Given the description of an element on the screen output the (x, y) to click on. 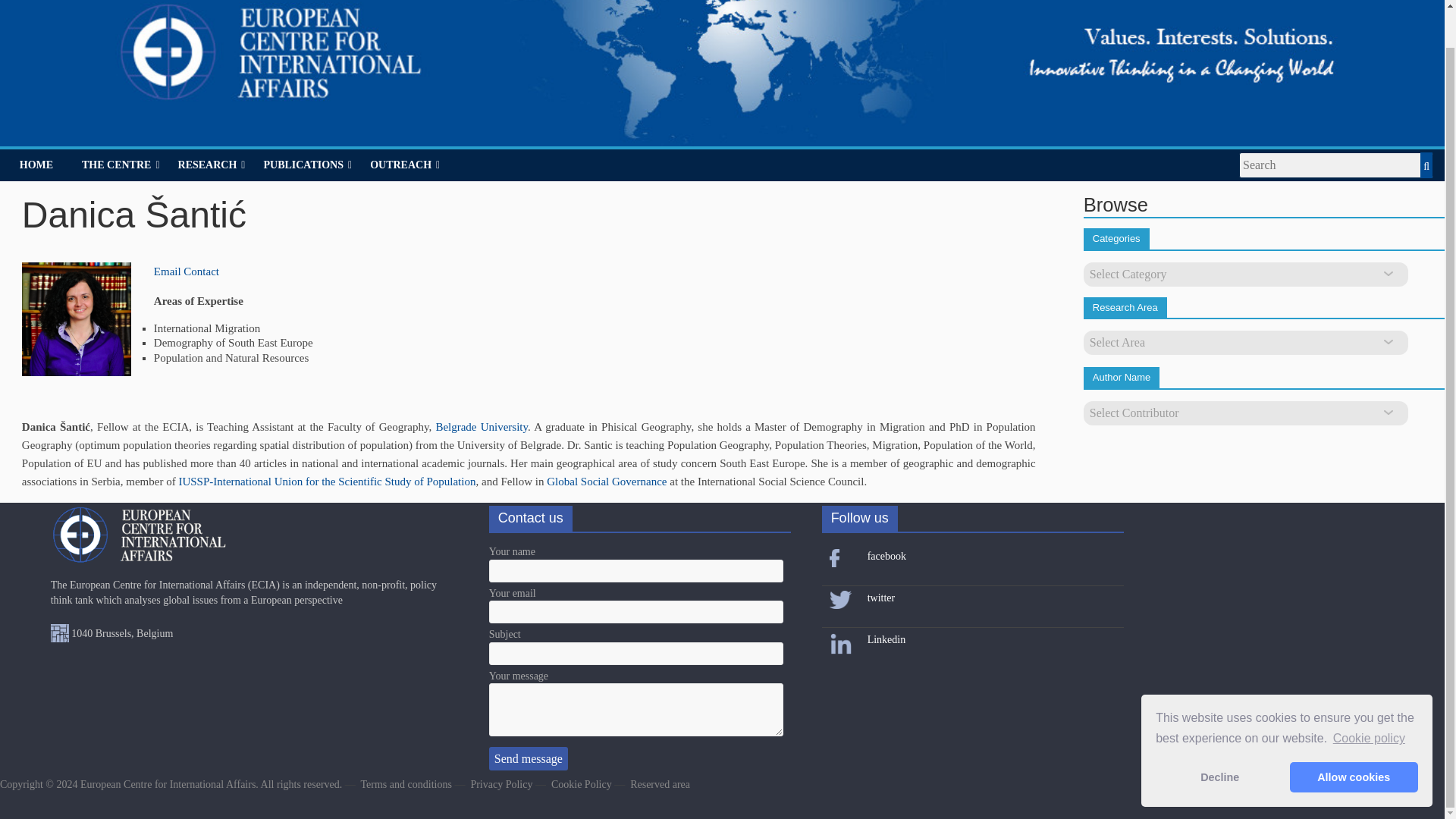
Email Contact (186, 271)
Reserved area (660, 784)
PUBLICATIONS (307, 164)
OUTREACH (404, 164)
Allow cookies (1354, 737)
Send message (528, 758)
Global Social Governance (606, 481)
Terms and conditions (406, 784)
HOME (36, 164)
Belgrade University (481, 426)
Linkedin (886, 639)
twitter (881, 597)
Send message (528, 758)
THE CENTRE (120, 164)
